Given the description of an element on the screen output the (x, y) to click on. 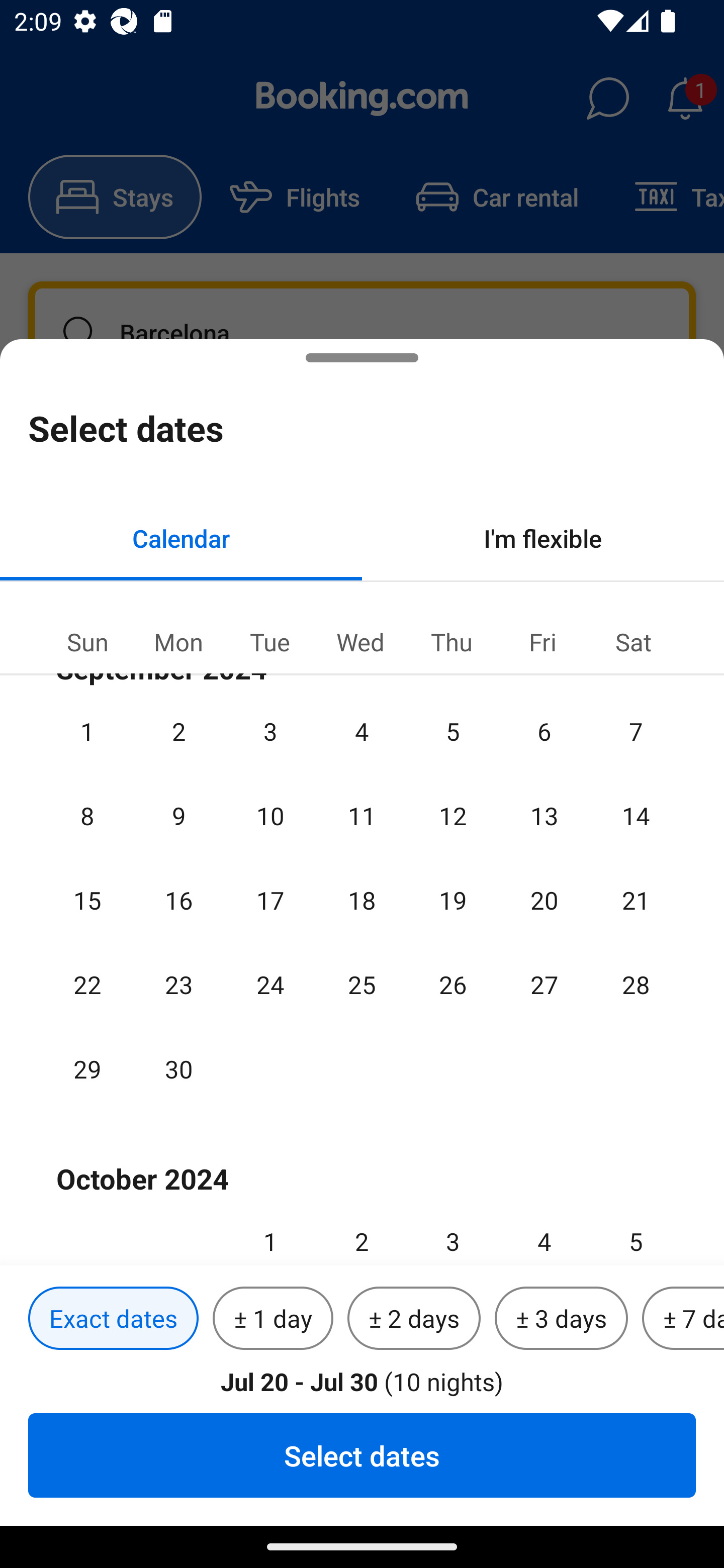
I'm flexible (543, 537)
Exact dates (113, 1318)
± 1 day (272, 1318)
± 2 days (413, 1318)
± 3 days (560, 1318)
± 7 days (683, 1318)
Select dates (361, 1454)
